Given the description of an element on the screen output the (x, y) to click on. 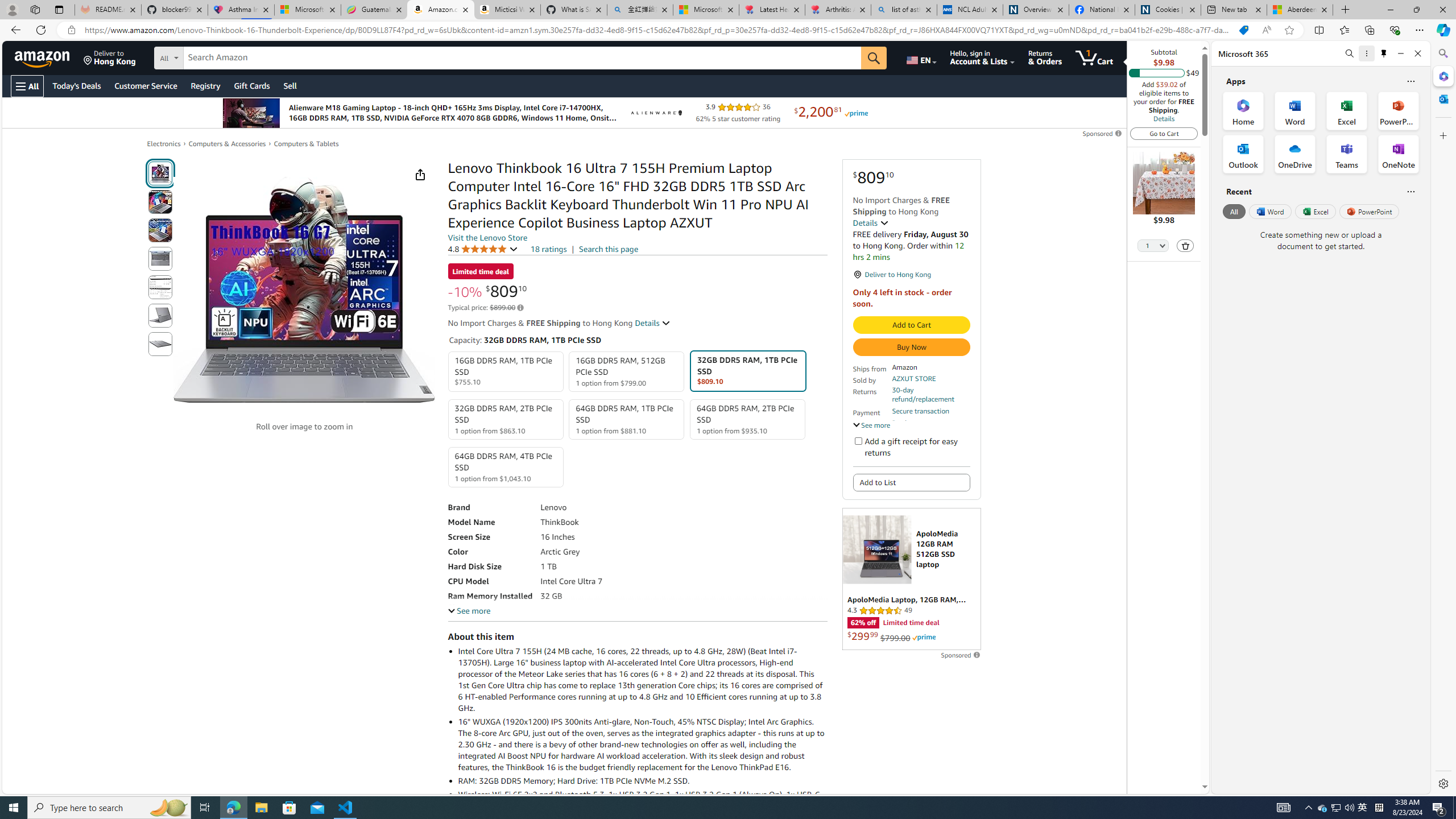
Teams Office App (1346, 154)
1 item in cart (1094, 57)
Buy Now (911, 347)
You have the best price! (1243, 29)
Quantity Selector (1153, 246)
OneDrive Office App (1295, 154)
